Given the description of an element on the screen output the (x, y) to click on. 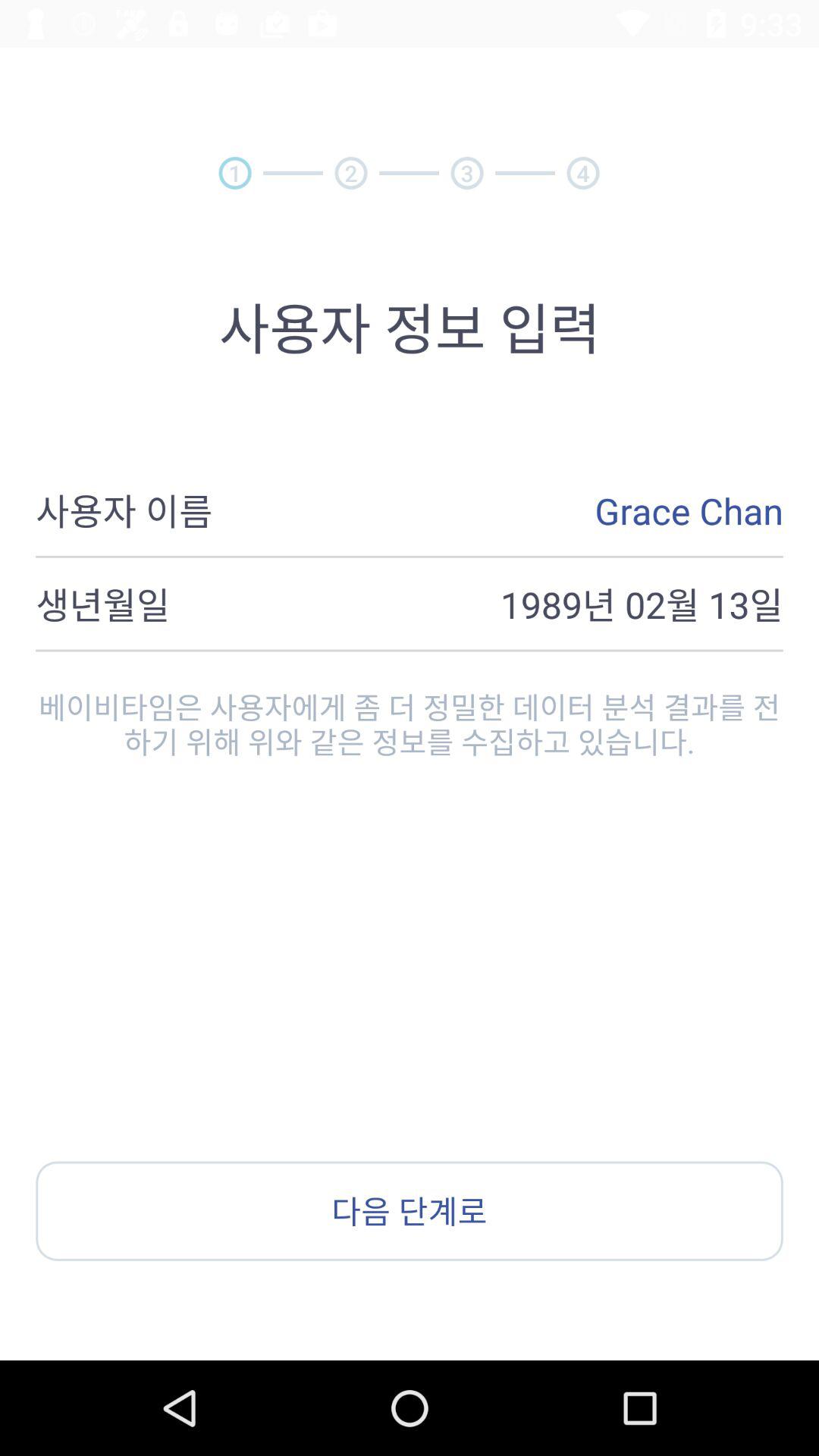
launch item at the top right corner (583, 173)
